Given the description of an element on the screen output the (x, y) to click on. 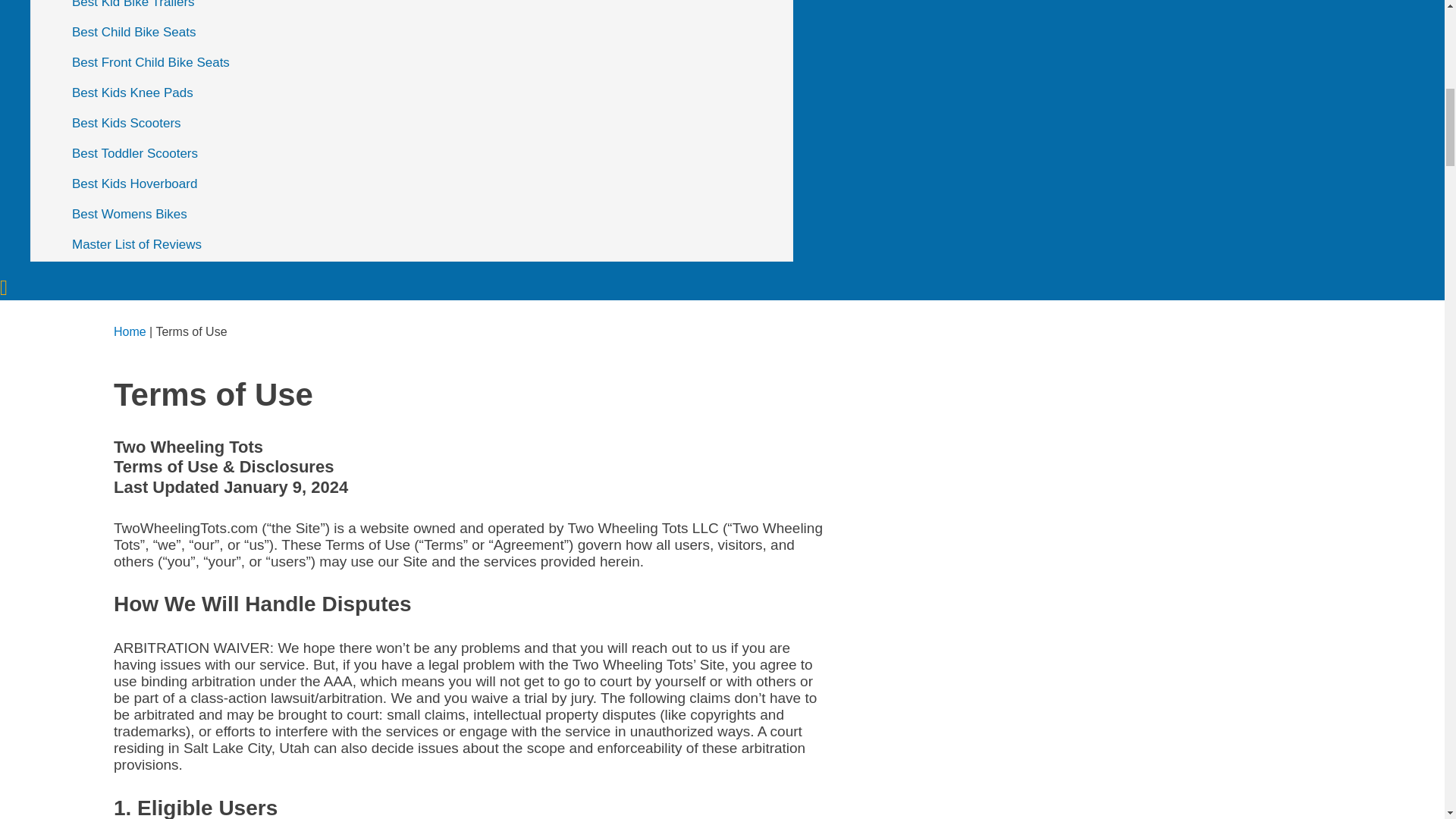
Best Kids Scooters (427, 123)
Best Front Child Bike Seats (427, 62)
Best Kids Knee Pads (427, 92)
Best Kid Bike Trailers (427, 8)
Best Toddler Scooters (427, 153)
Best Child Bike Seats (427, 32)
Master List of Reviews (427, 245)
Home (130, 331)
Best Kids Hoverboard (427, 183)
Best Womens Bikes (427, 214)
